Given the description of an element on the screen output the (x, y) to click on. 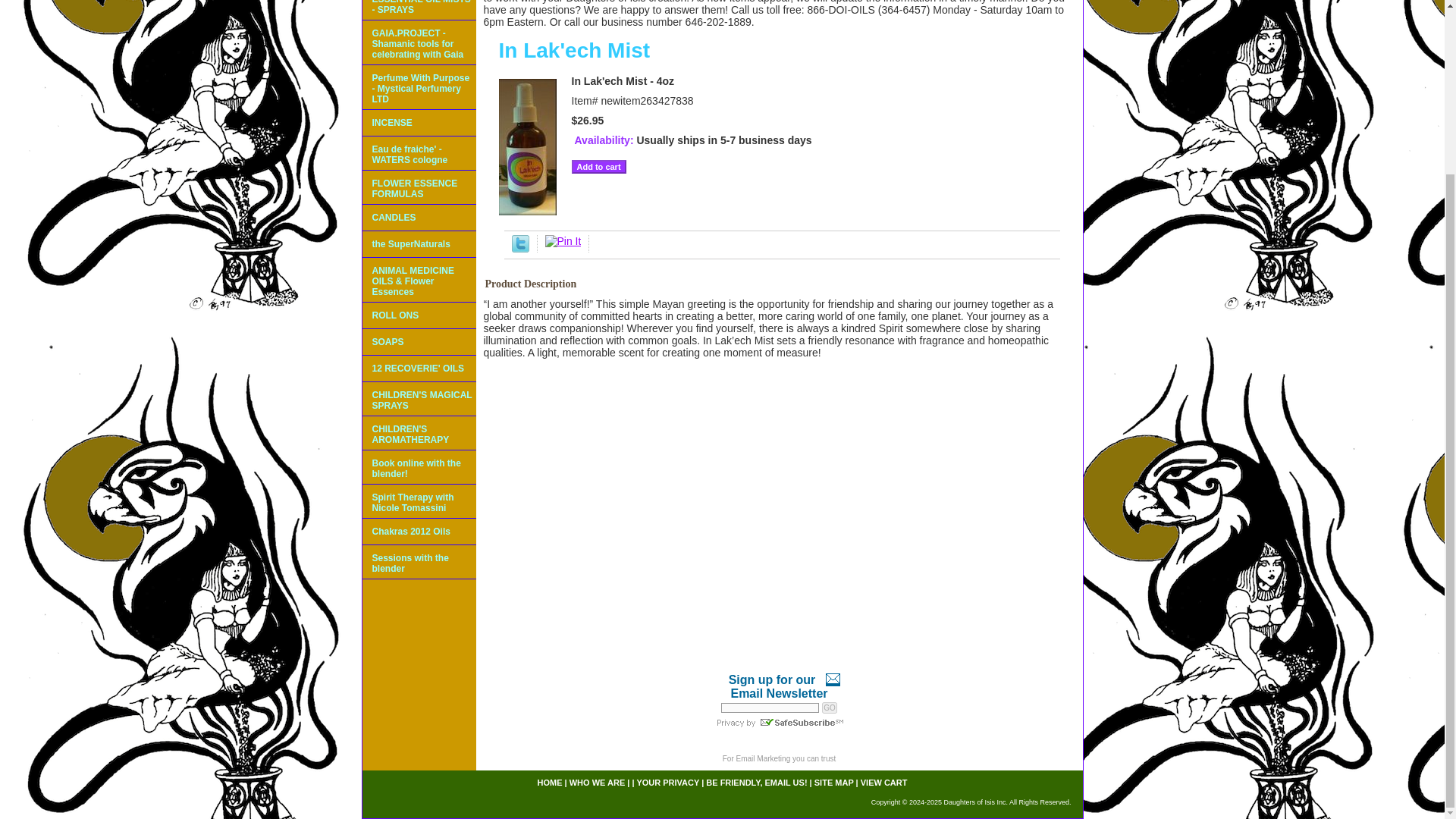
WHO WE ARE (597, 782)
GO (829, 707)
Perfume With Purpose - Mystical Perfumery LTD (419, 87)
Eau de fraiche' - WATERS cologne  (419, 153)
Chakras 2012 Oils (419, 531)
ROLL ONS (419, 315)
Perfume With Purpose - Mystical Perfumery LTD (419, 87)
CHILDREN'S AROMATHERAPY (419, 433)
the SuperNaturals  (419, 243)
GAIA.PROJECT - Shamanic tools for celebrating with Gaia (419, 42)
SITE MAP (833, 782)
HOME (549, 782)
Add to cart (599, 166)
CHILDREN'S MAGICAL SPRAYS (419, 399)
GO (829, 707)
